Given the description of an element on the screen output the (x, y) to click on. 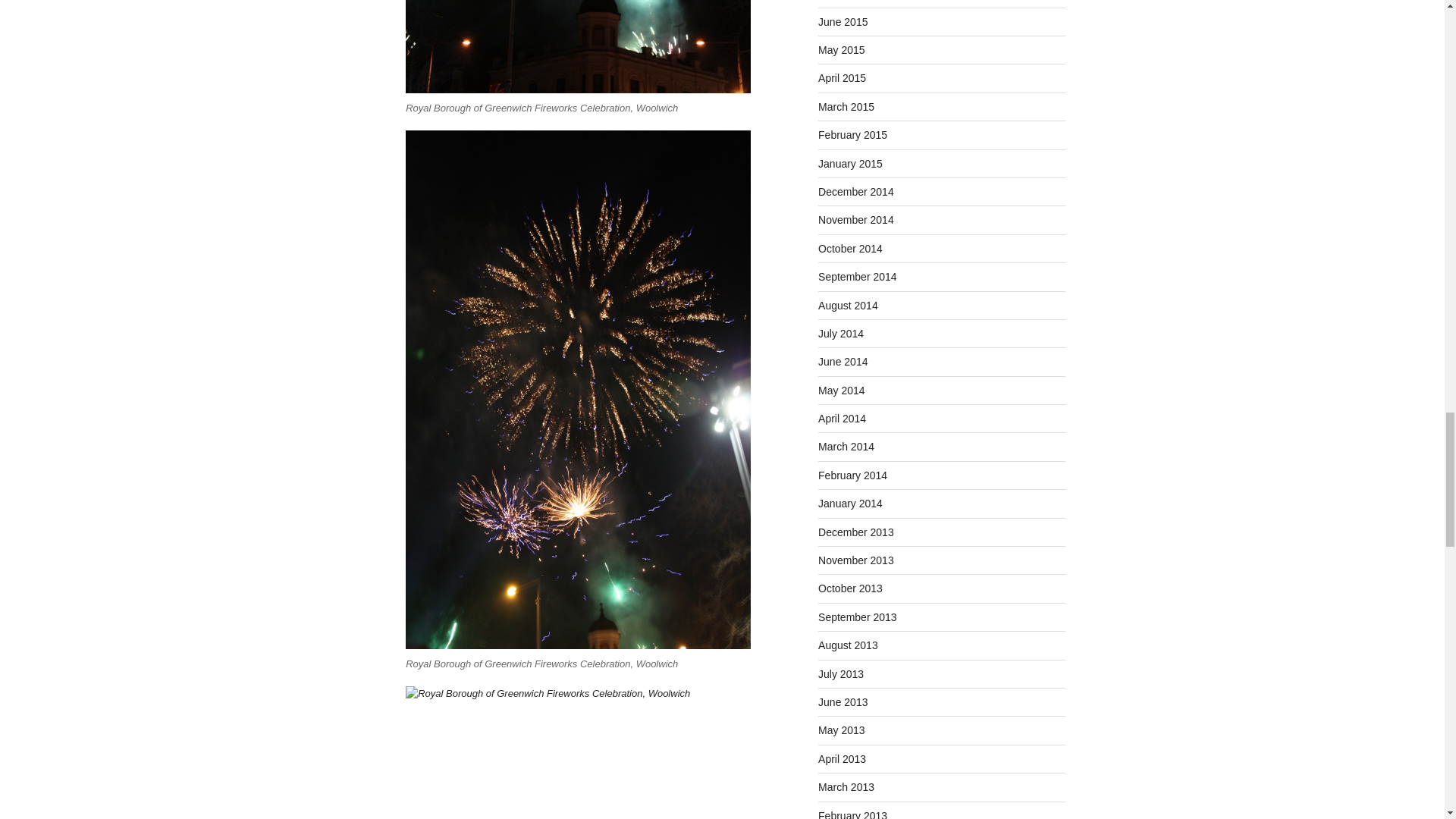
Royal Borough of Greenwich Fireworks Celebration, Woolwich (578, 752)
Royal Borough of Greenwich Fireworks Celebration, Woolwich (578, 46)
